Given the description of an element on the screen output the (x, y) to click on. 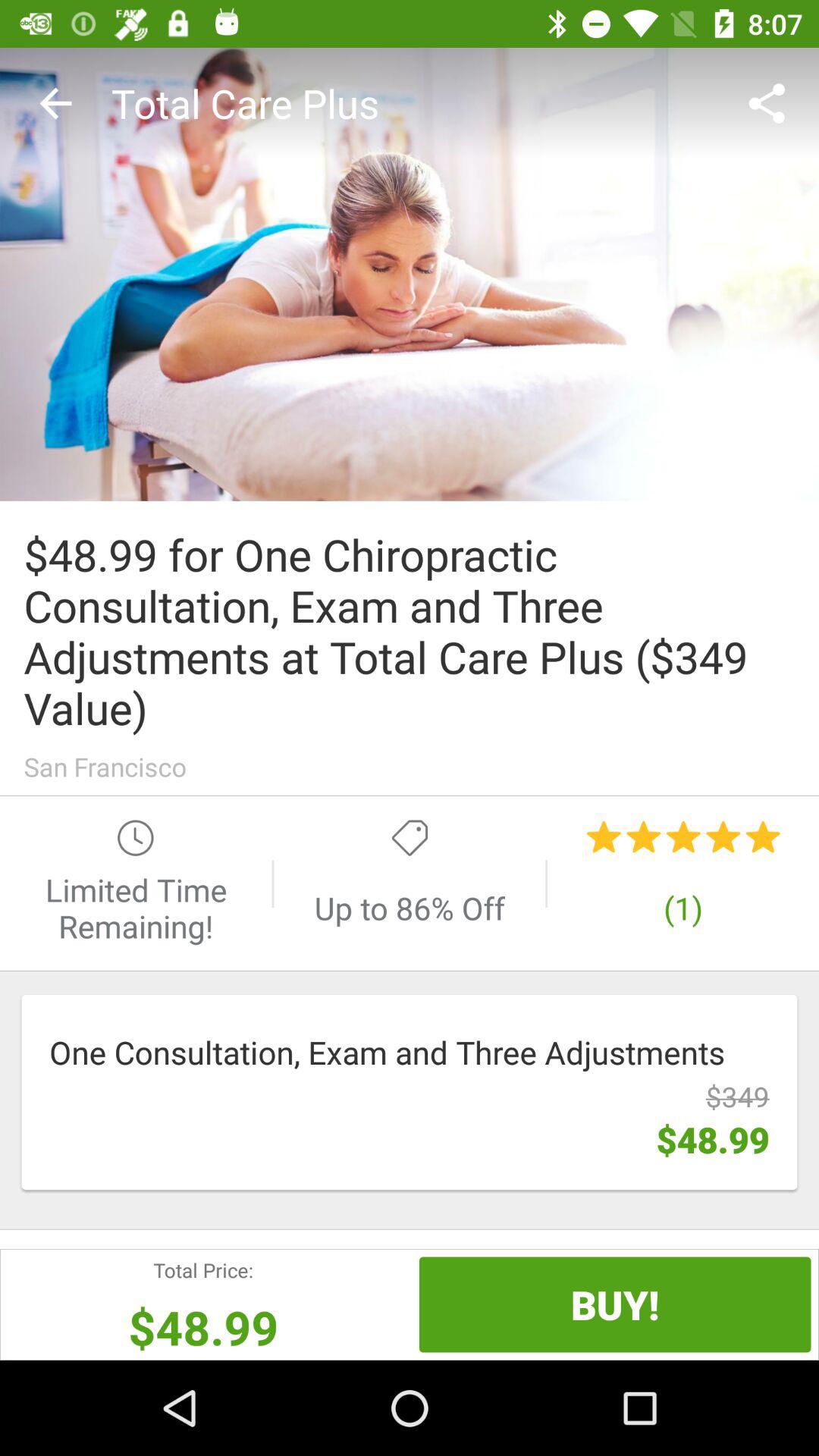
click item to the left of the total care plus (55, 103)
